Given the description of an element on the screen output the (x, y) to click on. 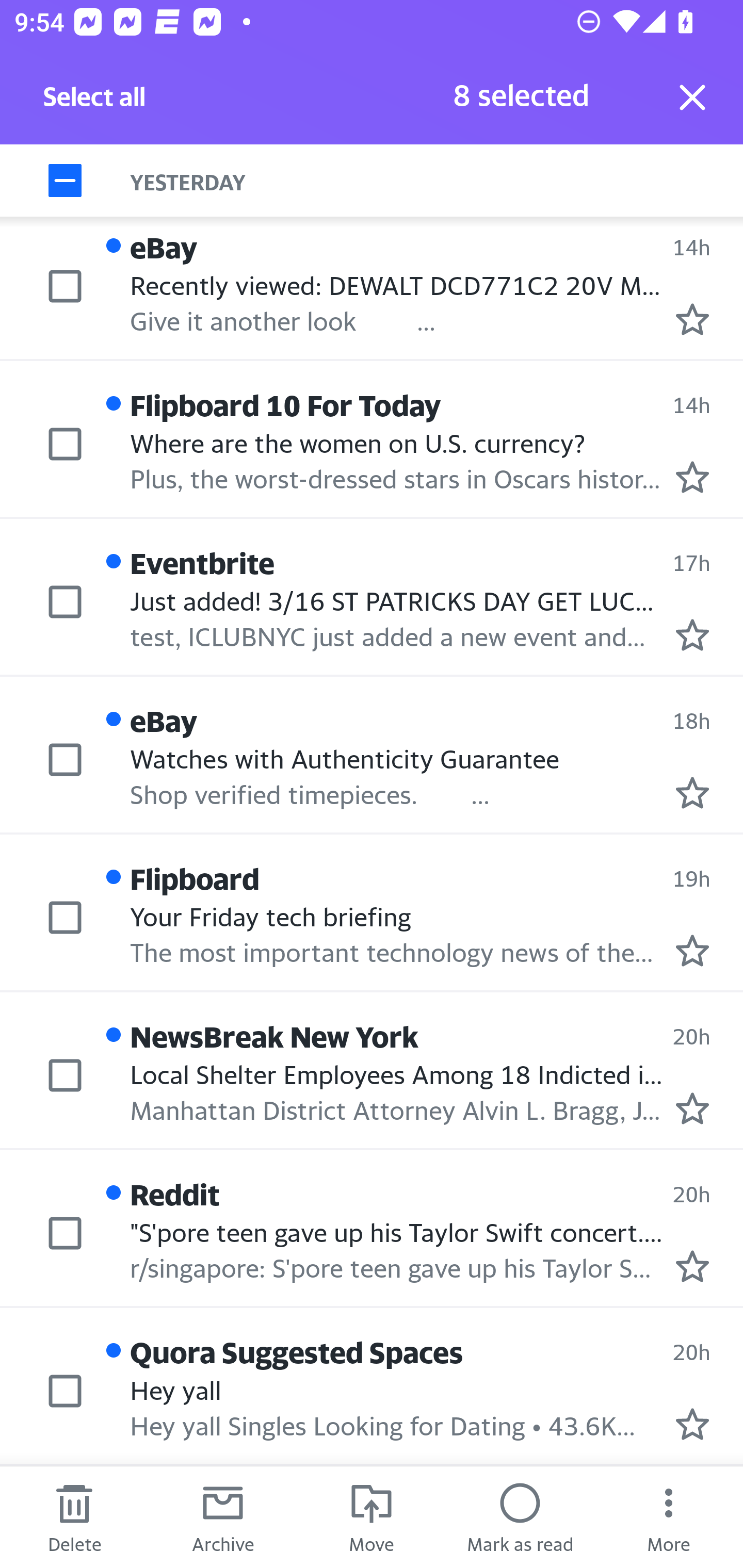
Exit selection mode (692, 97)
Select all (94, 101)
Mark as starred. (692, 319)
Mark as starred. (692, 477)
Mark as starred. (692, 634)
Mark as starred. (692, 792)
Mark as starred. (692, 950)
Mark as starred. (692, 1107)
Mark as starred. (692, 1266)
Mark as starred. (692, 1424)
Delete (74, 1517)
Archive (222, 1517)
Move (371, 1517)
Mark as read (519, 1517)
More (668, 1517)
